Given the description of an element on the screen output the (x, y) to click on. 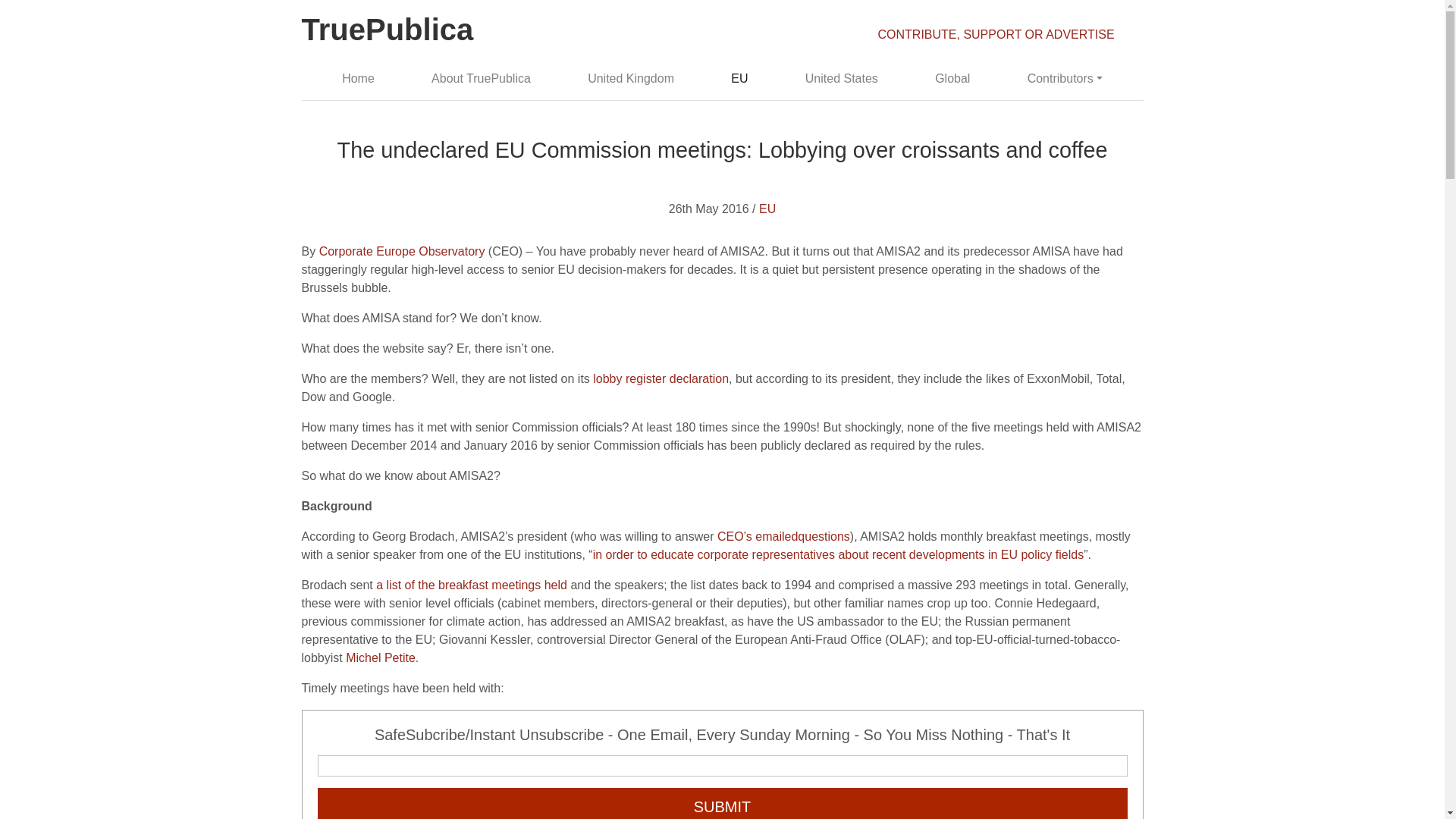
About TruePublica (481, 78)
EU (740, 78)
TruePublica (387, 32)
Contributors (1064, 78)
CONTRIBUTE, SUPPORT OR ADVERTISE (996, 33)
EU (767, 208)
meetings (517, 584)
Michel Petite (380, 657)
emailed (776, 535)
United Kingdom (631, 78)
SUBMIT (721, 803)
lobby register declaration (660, 378)
breakfast (465, 584)
questions (823, 535)
